Given the description of an element on the screen output the (x, y) to click on. 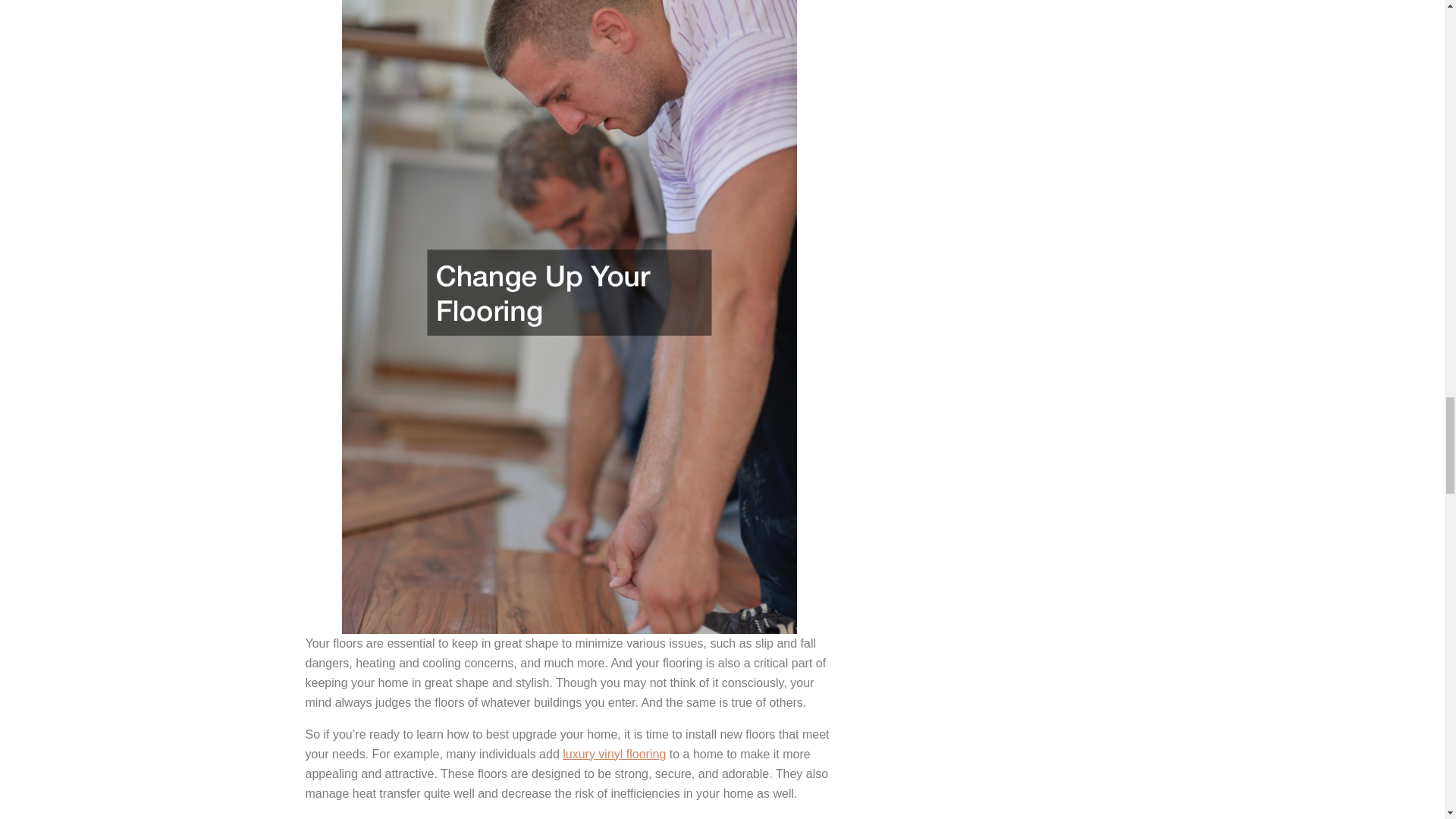
luxury vinyl flooring (613, 753)
